Given the description of an element on the screen output the (x, y) to click on. 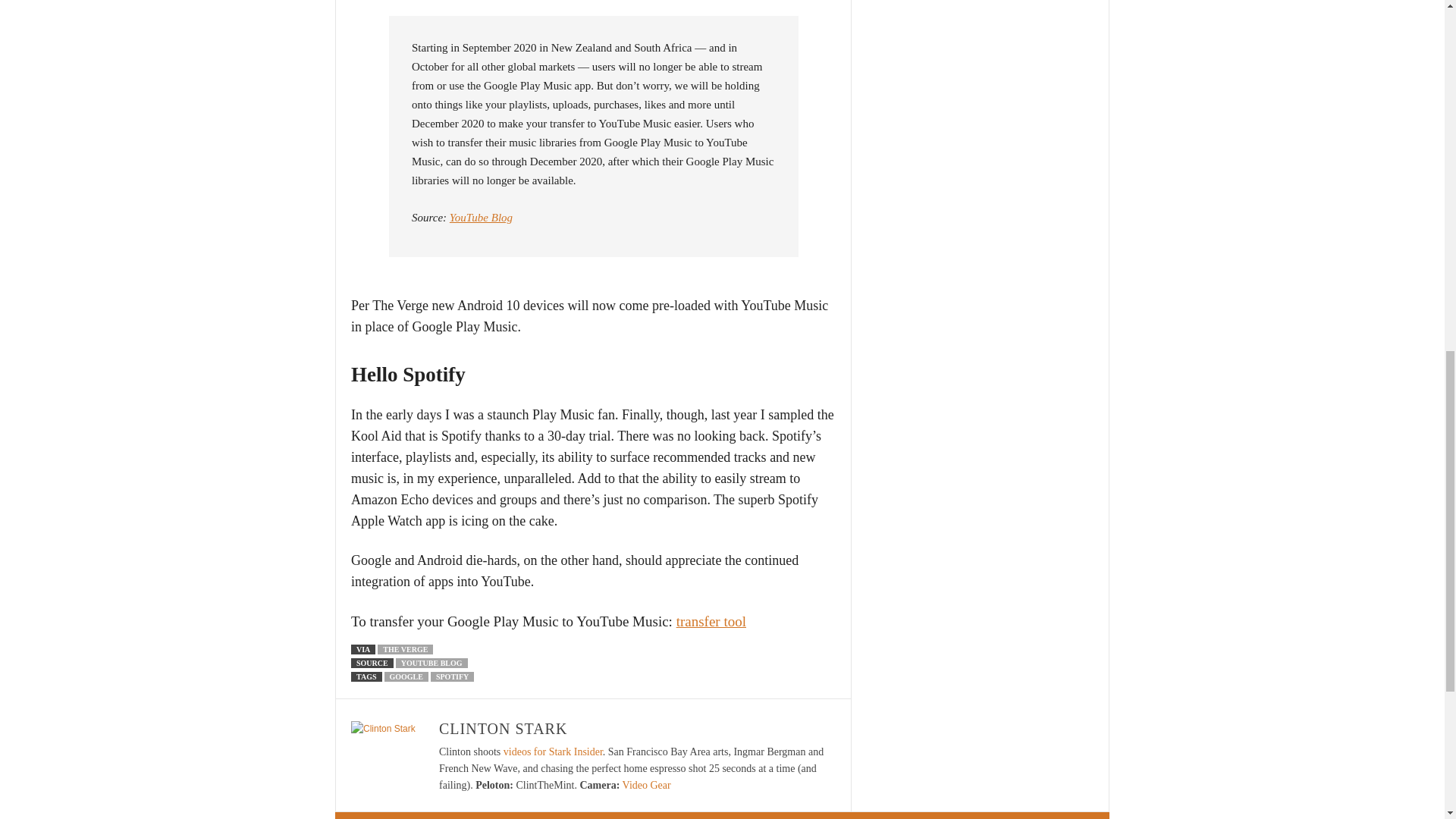
transfer tool (711, 621)
THE VERGE (404, 649)
YOUTUBE BLOG (431, 663)
SPOTIFY (452, 676)
YouTube Blog (480, 217)
videos for Stark Insider (552, 751)
CLINTON STARK (503, 728)
Video Gear (647, 785)
GOOGLE (406, 676)
